Given the description of an element on the screen output the (x, y) to click on. 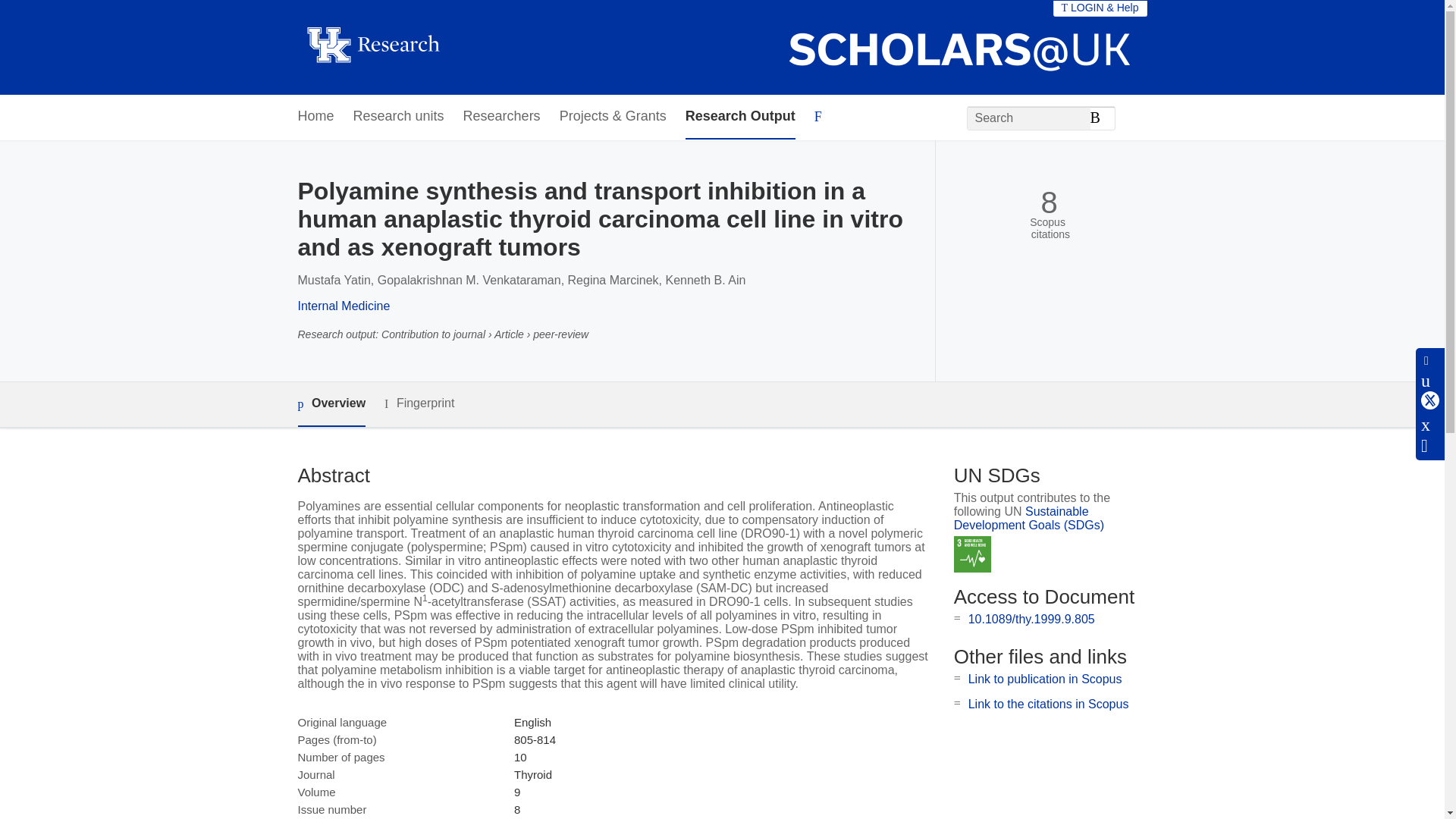
Research Output (739, 117)
Link to publication in Scopus (1045, 678)
SDG 3 - Good Health and Well-being (972, 554)
Overview (331, 404)
Link to the citations in Scopus (1048, 703)
University of Kentucky Home (372, 47)
Research units (398, 117)
Internal Medicine (343, 305)
Fingerprint (419, 403)
Researchers (501, 117)
